Given the description of an element on the screen output the (x, y) to click on. 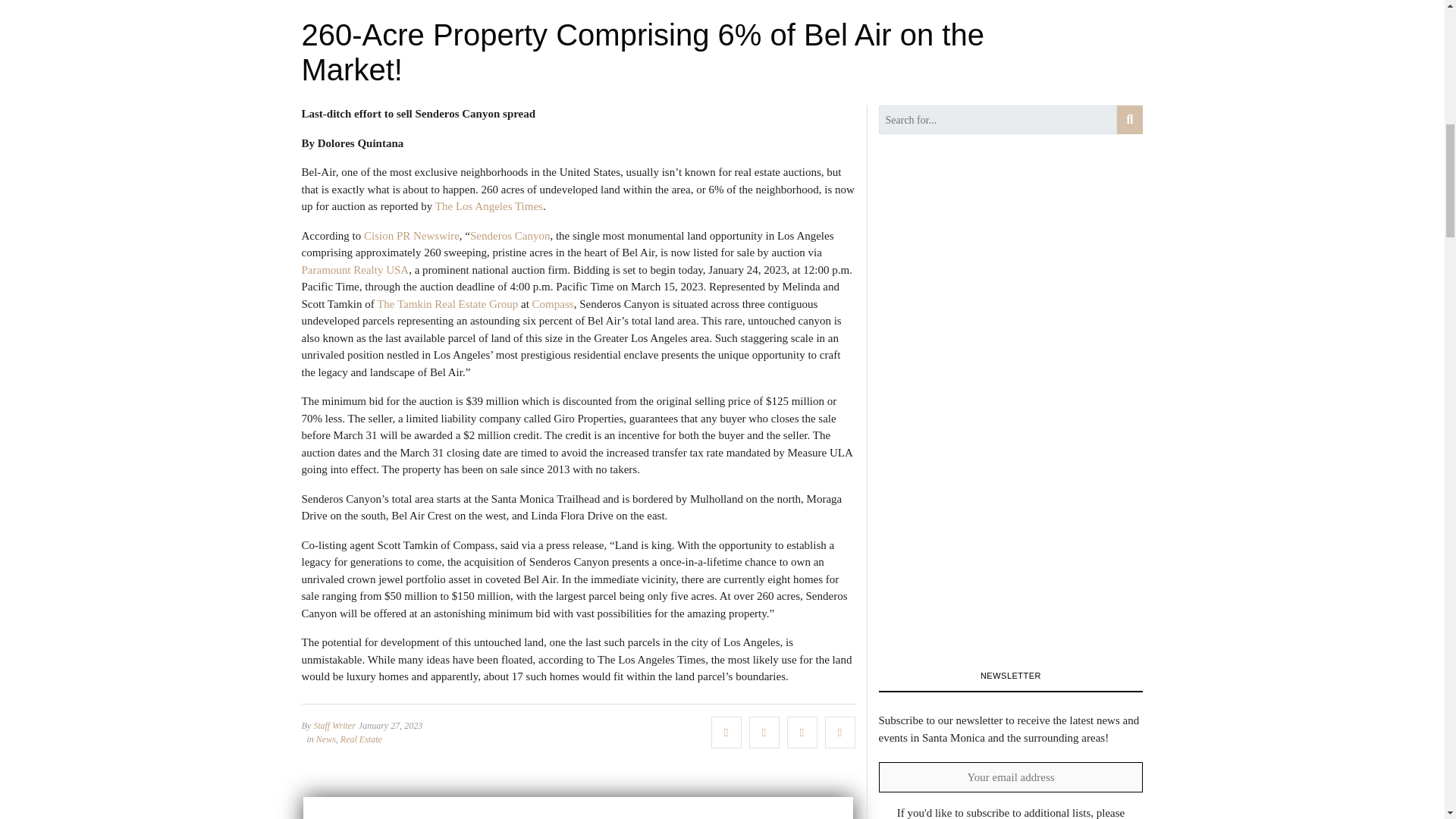
The Los Angeles Times (489, 205)
3rd party ad content (577, 807)
Posts by Staff Writer (334, 725)
Cision PR Newswire (412, 234)
Senderos Canyon (510, 234)
The Tamkin Real Estate Group (447, 303)
Paramount Realty USA (355, 269)
